Given the description of an element on the screen output the (x, y) to click on. 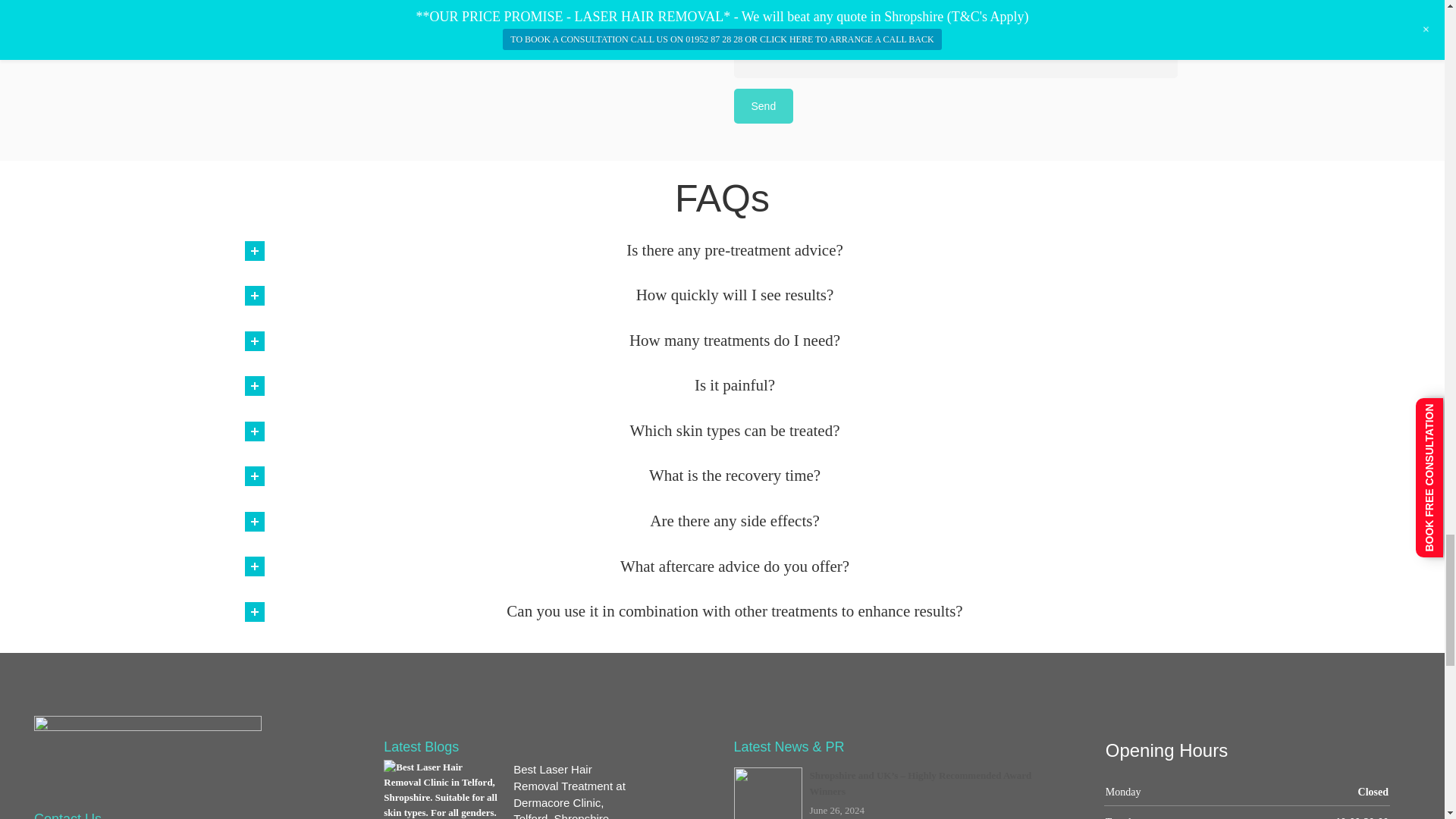
Send (763, 105)
